Given the description of an element on the screen output the (x, y) to click on. 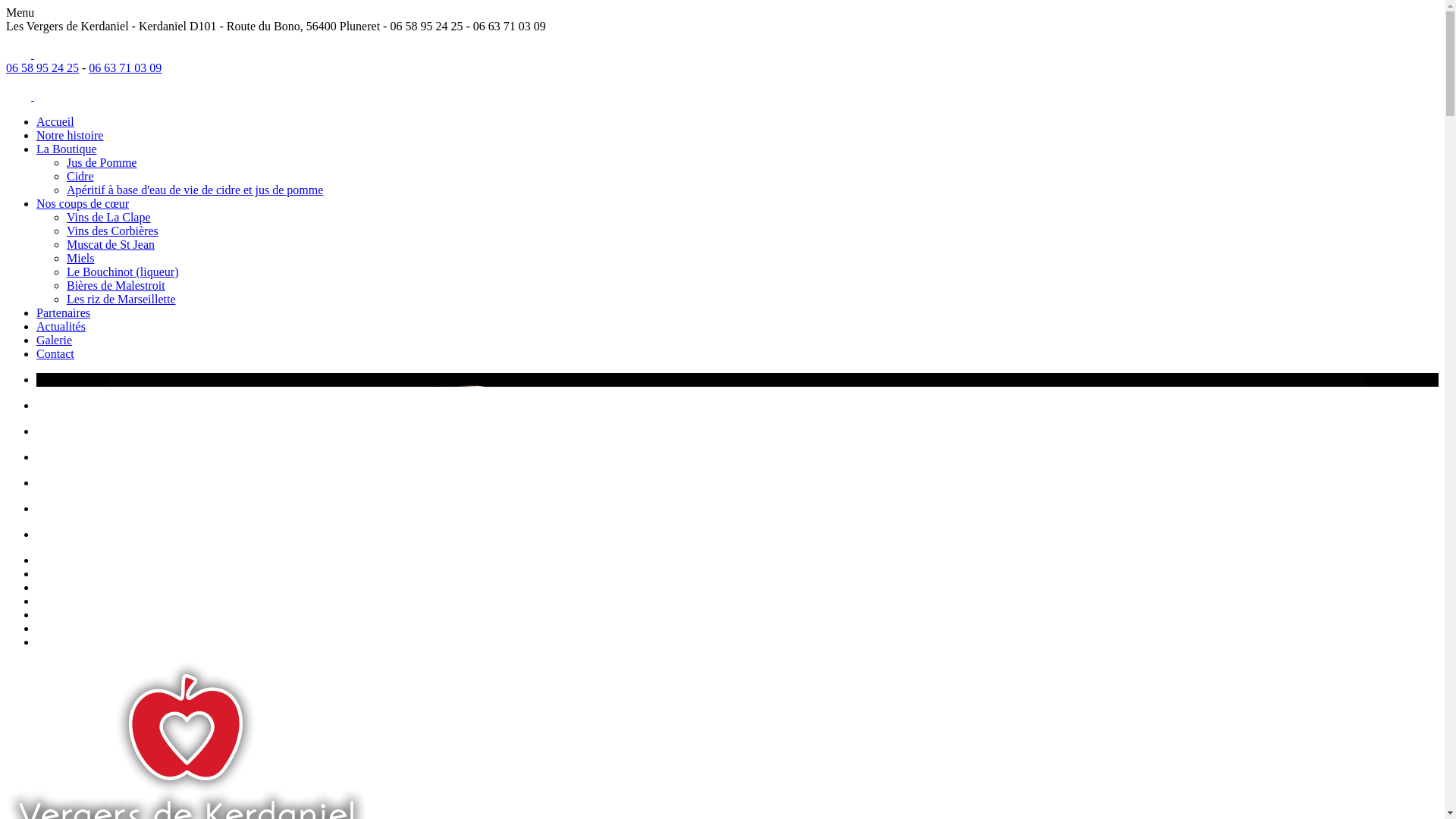
Les riz de Marseillette Element type: text (120, 298)
Accueil Element type: text (55, 121)
Contact Element type: text (55, 353)
Notre histoire Element type: text (69, 134)
Miels Element type: text (80, 257)
Jus de Pomme Element type: text (101, 162)
Le Bouchinot (liqueur) Element type: text (122, 271)
Muscat de St Jean Element type: text (110, 244)
06 58 95 24 25 Element type: text (42, 67)
Cidre Element type: text (80, 175)
Partenaires Element type: text (63, 312)
Galerie Element type: text (54, 339)
06 63 71 03 09 Element type: text (124, 67)
La Boutique Element type: text (66, 148)
Vins de La Clape Element type: text (108, 216)
